Given the description of an element on the screen output the (x, y) to click on. 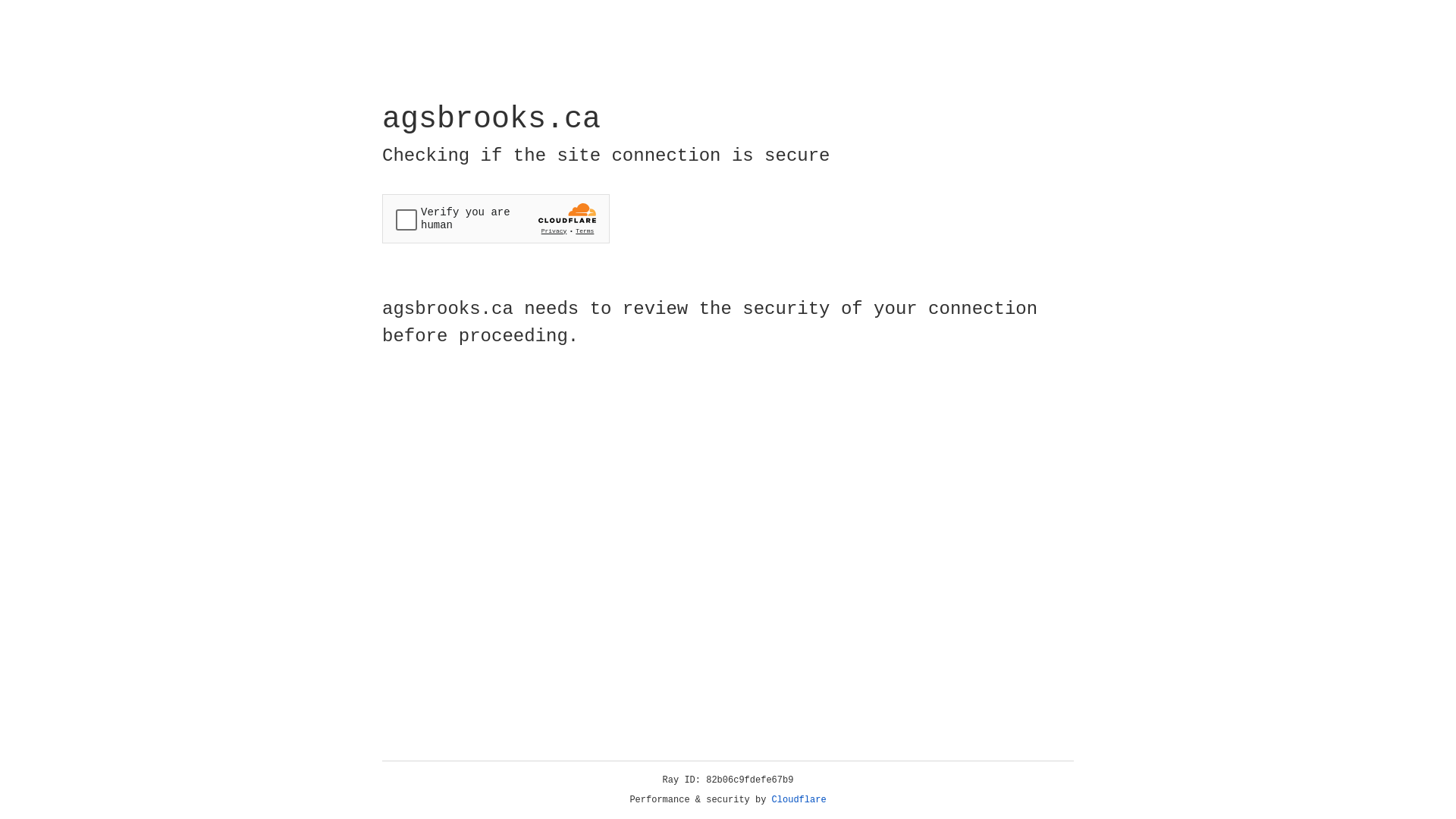
Widget containing a Cloudflare security challenge Element type: hover (495, 218)
Cloudflare Element type: text (798, 799)
